Given the description of an element on the screen output the (x, y) to click on. 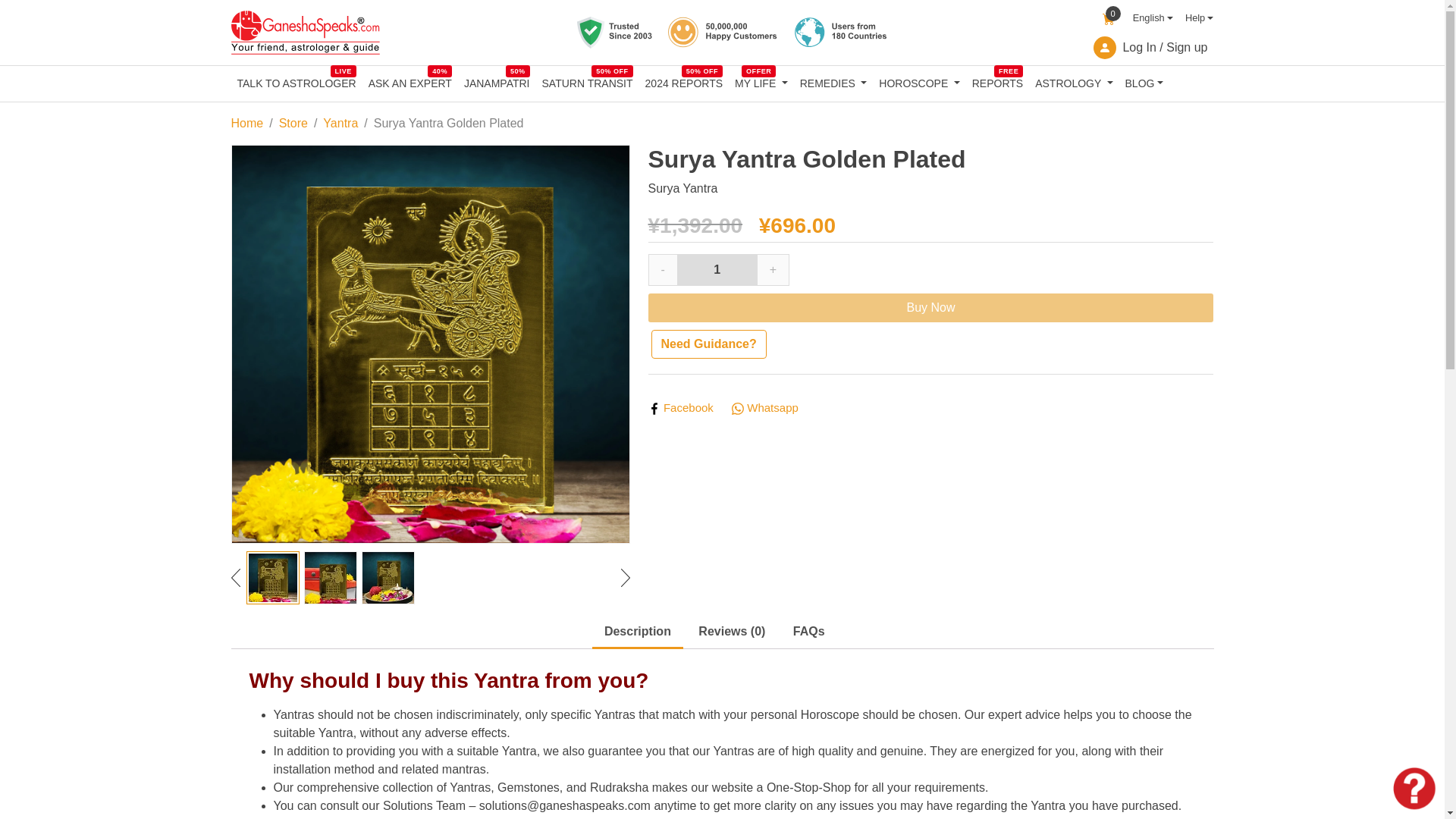
0 (1108, 17)
Ganeshaspeaks (304, 32)
Surya Yantra Golden Plated (761, 83)
Inquiry (387, 577)
Qty (1414, 788)
English (717, 269)
Surya Yantra Golden Plated (1147, 17)
Help (295, 83)
1 (1193, 17)
Surya Yantra Golden Plated (272, 577)
